Given the description of an element on the screen output the (x, y) to click on. 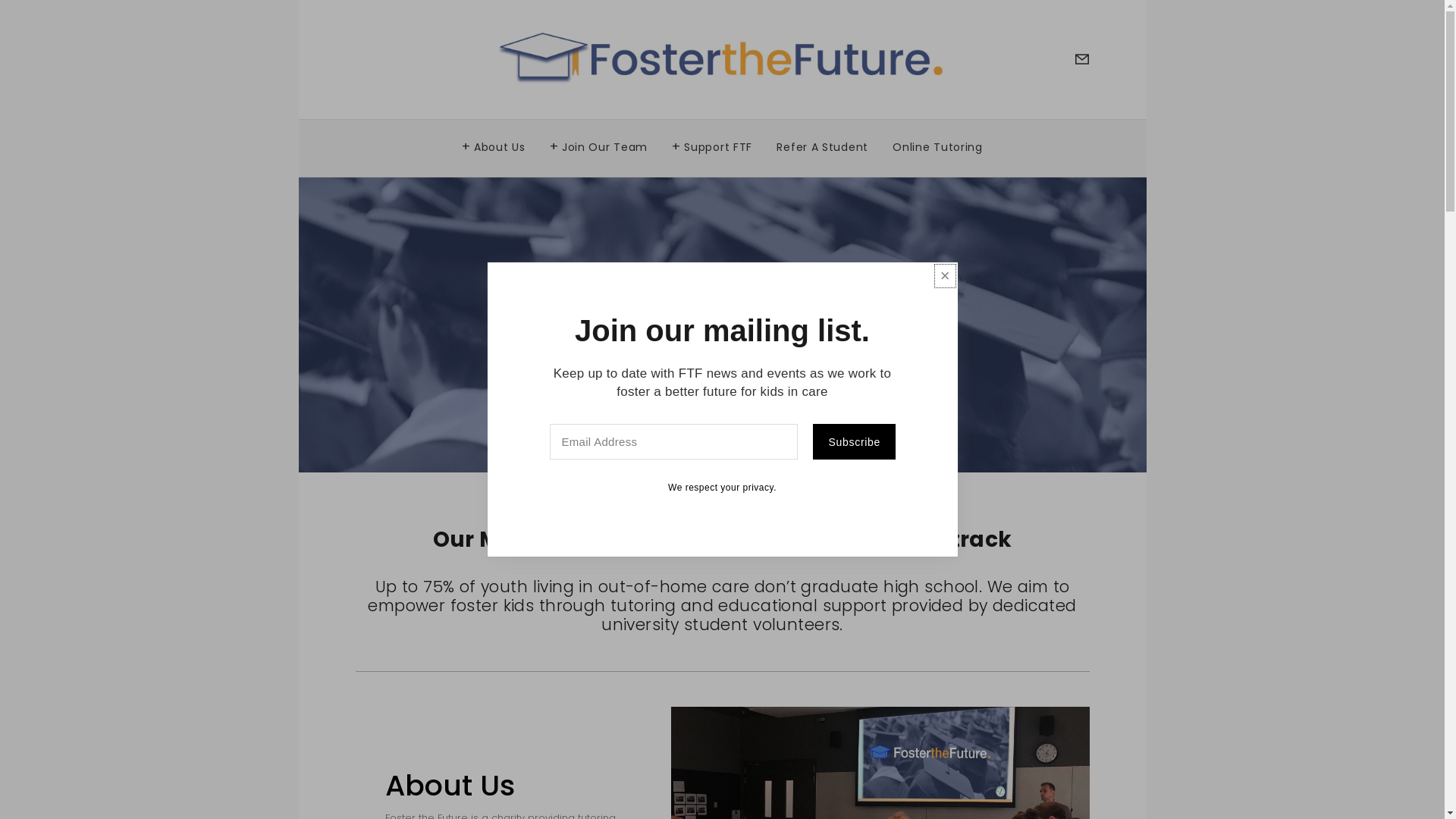
Join Our Team Element type: text (598, 142)
Subscribe Element type: text (853, 441)
About Us Element type: text (493, 142)
Online Tutoring Element type: text (937, 142)
Refer A Student Element type: text (821, 142)
Support FTF Element type: text (711, 142)
